Given the description of an element on the screen output the (x, y) to click on. 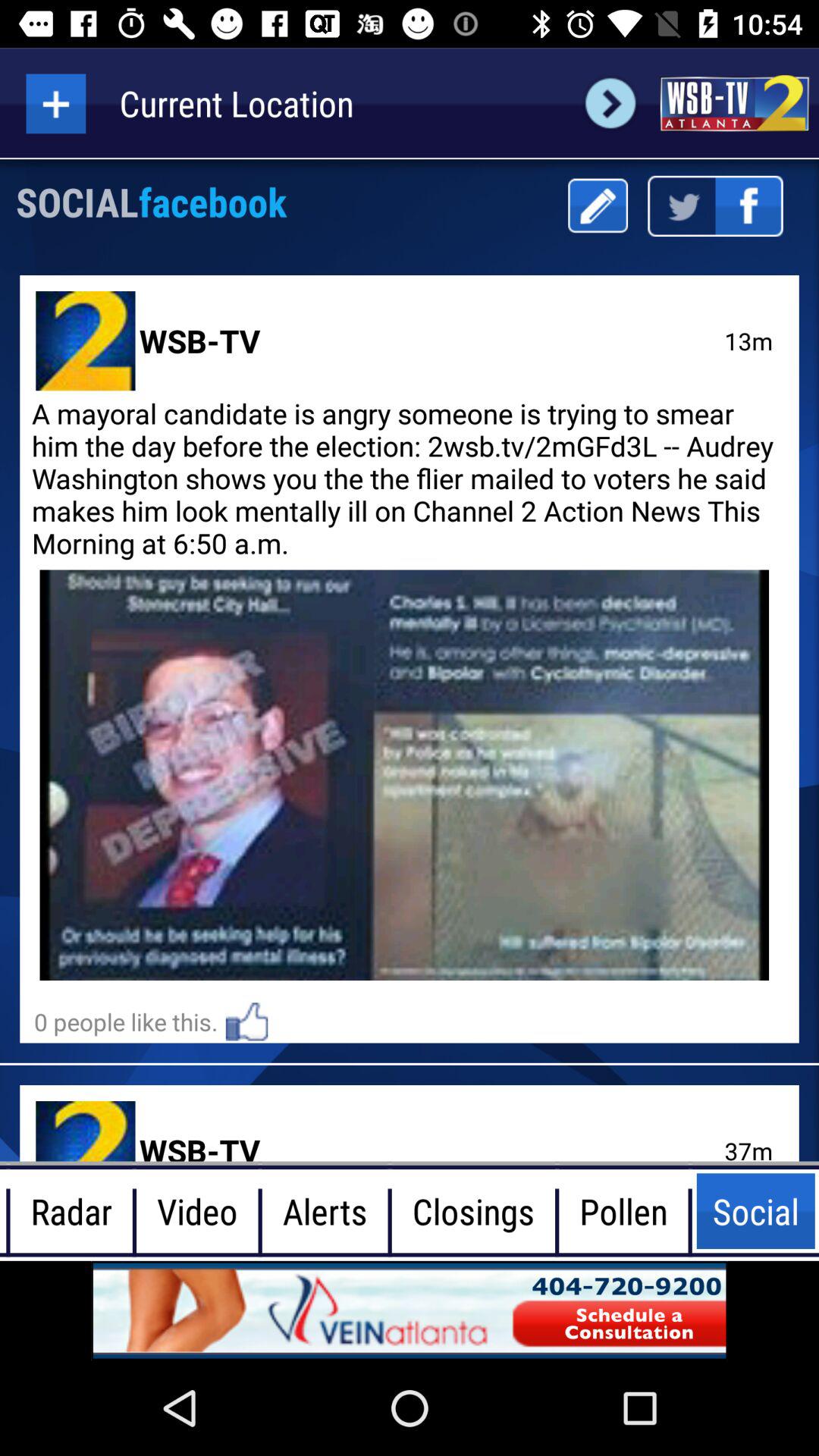
add botton (55, 103)
